Given the description of an element on the screen output the (x, y) to click on. 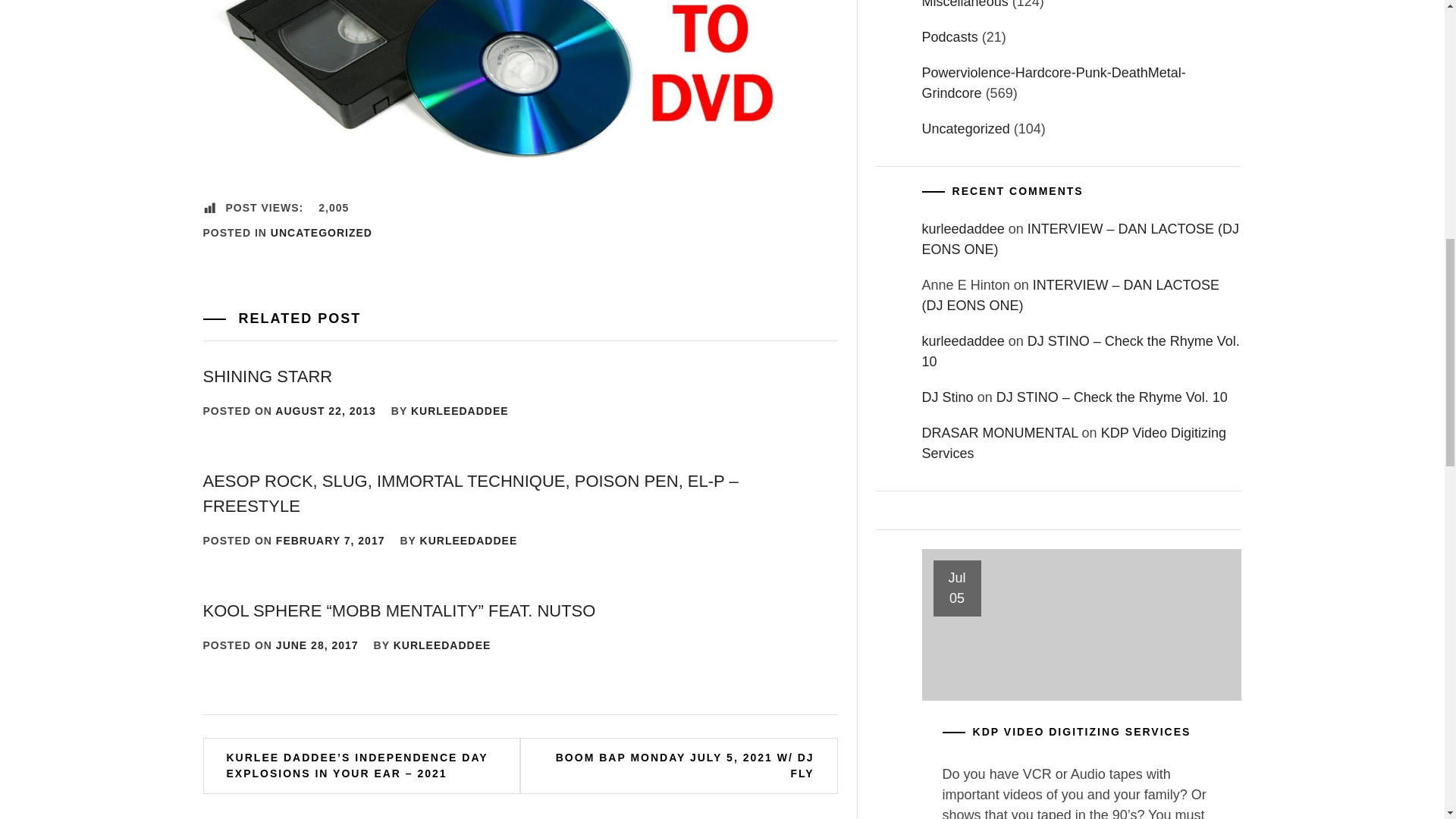
KURLEEDADDEE (442, 644)
UNCATEGORIZED (321, 232)
FEBRUARY 7, 2017 (330, 539)
Miscellaneous (965, 4)
Uncategorized (965, 128)
SHINING STARR (268, 375)
AUGUST 22, 2013 (325, 410)
KURLEEDADDEE (459, 410)
Powerviolence-Hardcore-Punk-DeathMetal-Grindcore (1053, 82)
JUNE 28, 2017 (317, 644)
Podcasts (949, 37)
kurleedaddee (962, 228)
KURLEEDADDEE (469, 539)
